Given the description of an element on the screen output the (x, y) to click on. 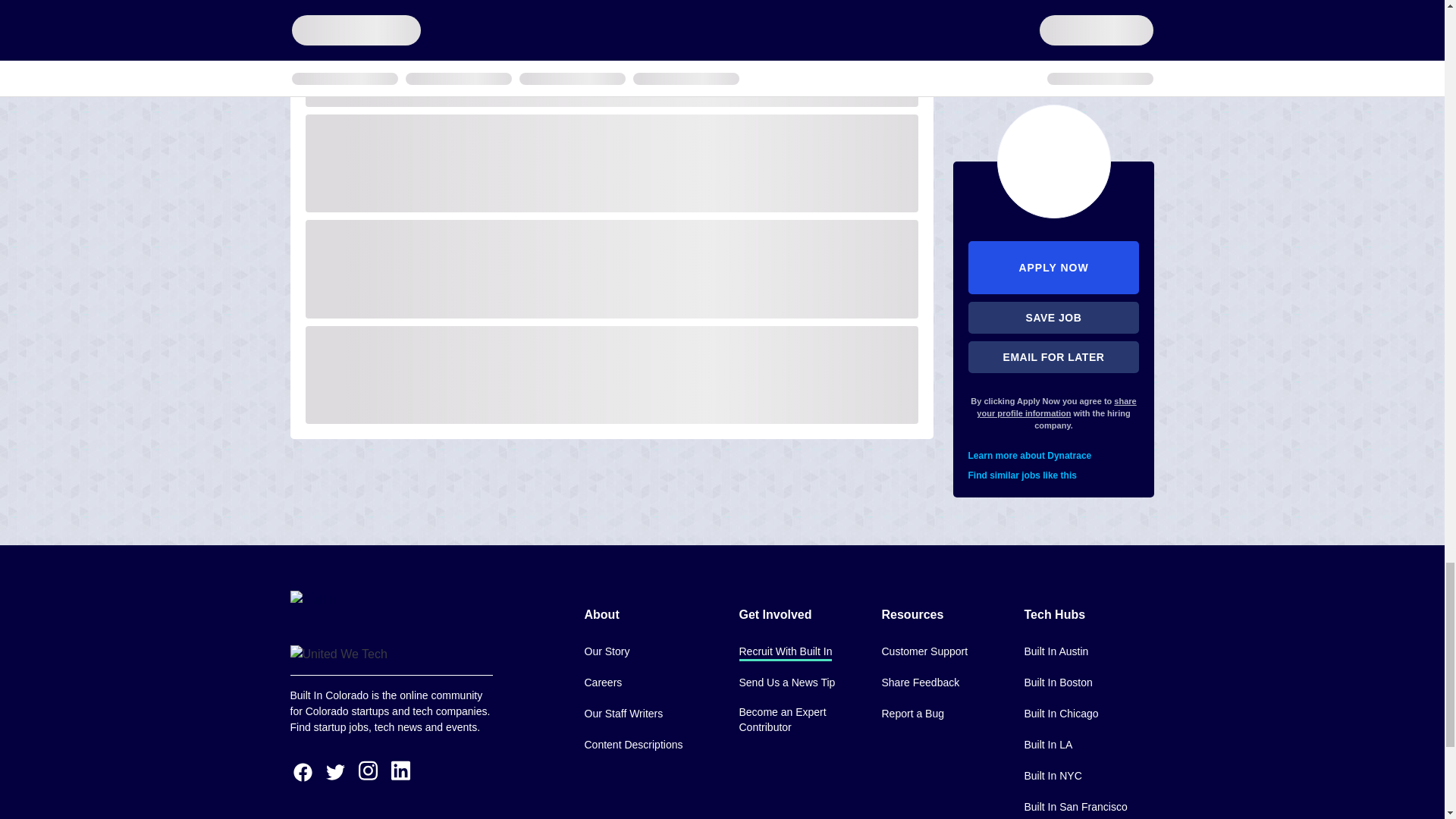
Share Feedback (919, 683)
Our Staff Writers (622, 714)
Careers (602, 683)
Become an Expert Contributor (797, 720)
Customer Support (924, 651)
Report a Bug (911, 714)
Recruit With Built In (784, 651)
Send Us a News Tip (786, 683)
Content Descriptions (632, 745)
Our Story (605, 651)
